Given the description of an element on the screen output the (x, y) to click on. 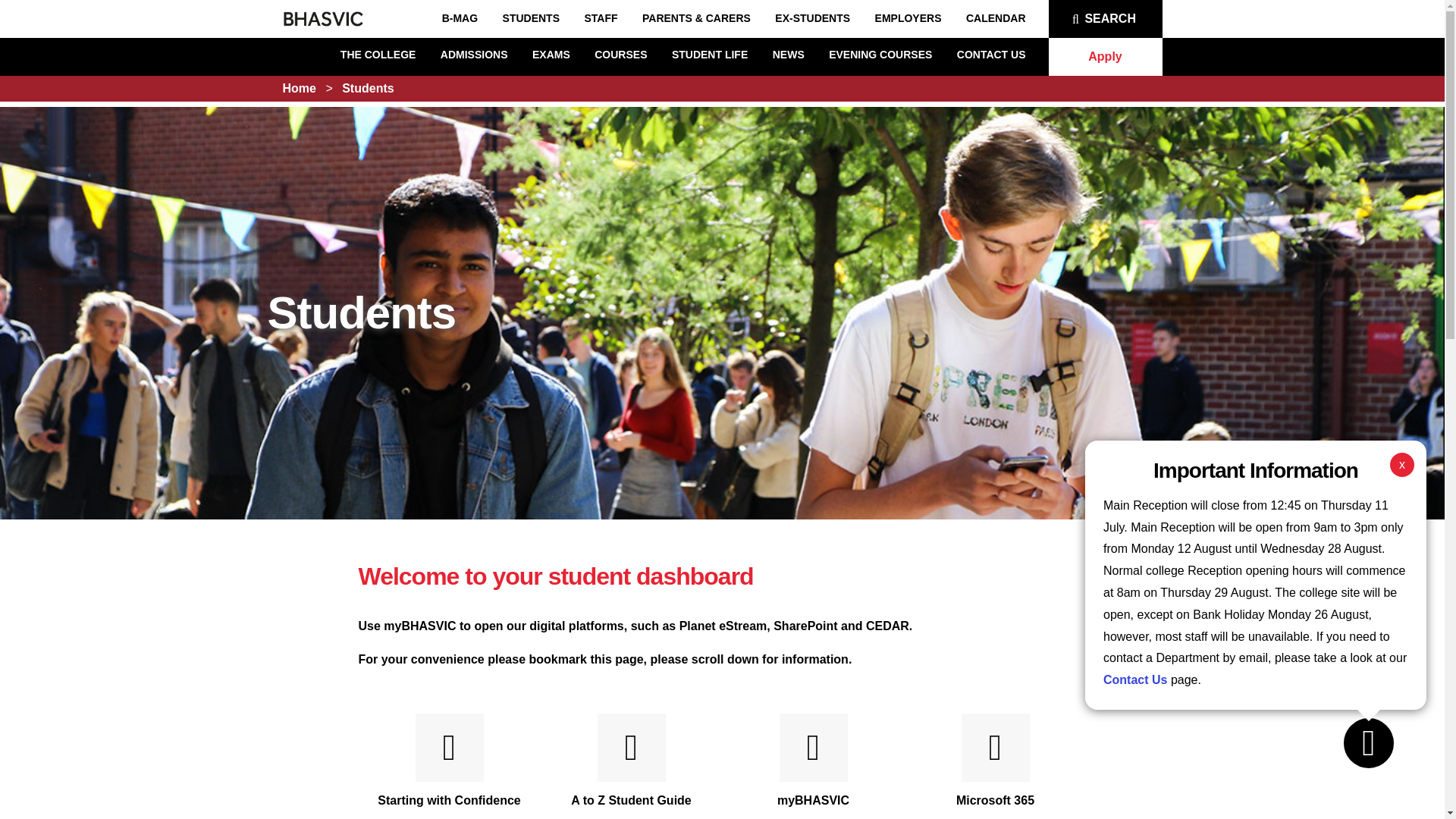
ADMISSIONS (474, 54)
NEWS (789, 54)
THE COLLEGE (378, 54)
EVENING COURSES (879, 54)
SEARCH (1104, 18)
CALENDAR (995, 18)
STUDENT LIFE (709, 54)
Apply (1104, 56)
EMPLOYERS (908, 18)
STUDENTS (531, 18)
EXAMS (551, 54)
B-MAG (458, 18)
COURSES (620, 54)
EX-STUDENTS (812, 18)
CONTACT US (991, 54)
